Given the description of an element on the screen output the (x, y) to click on. 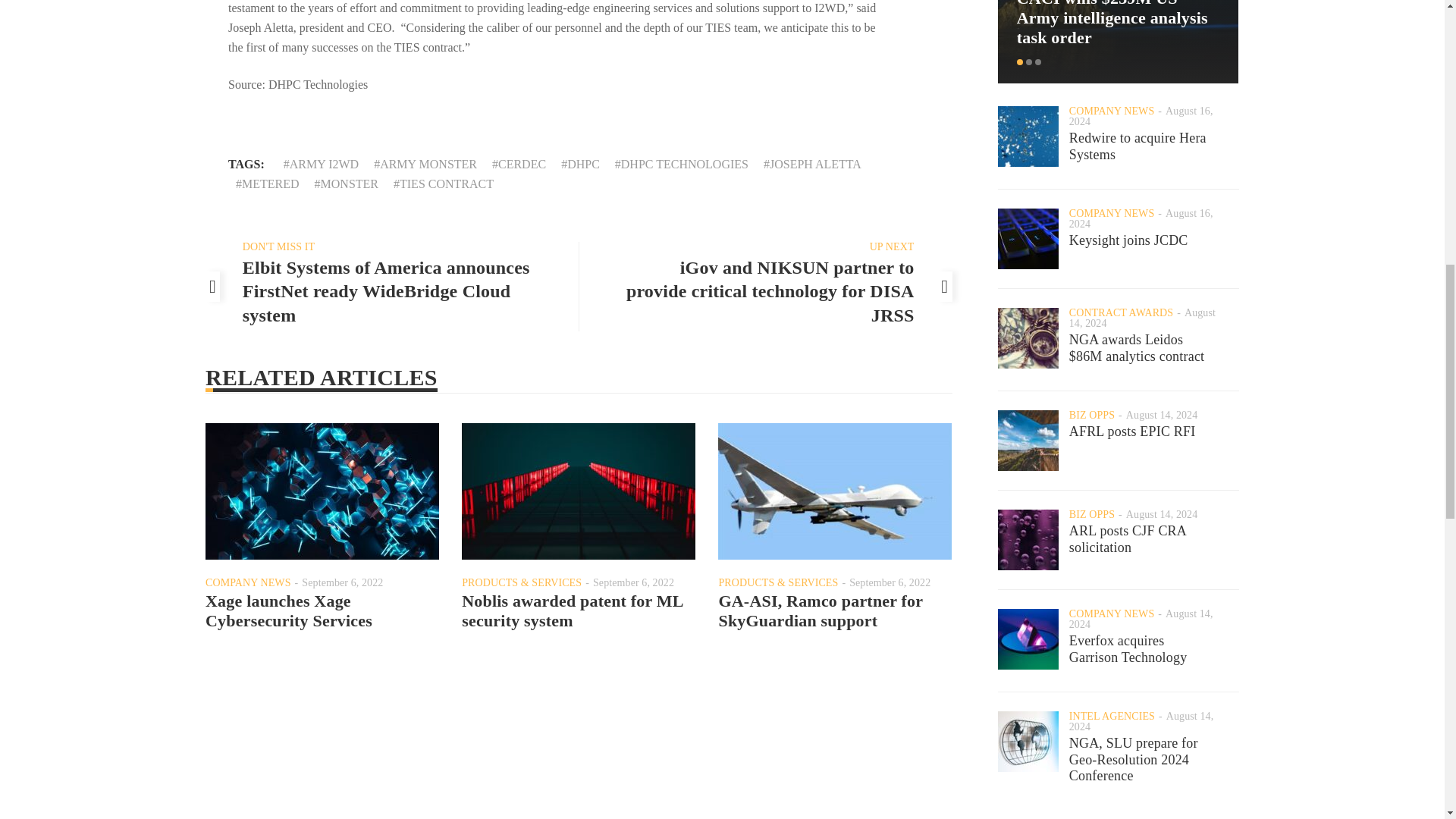
Xage launches Xage Cybersecurity Services (288, 610)
Noblis awarded patent for ML security system (571, 610)
GA-ASI, Ramco partner for SkyGuardian support (819, 610)
